Given the description of an element on the screen output the (x, y) to click on. 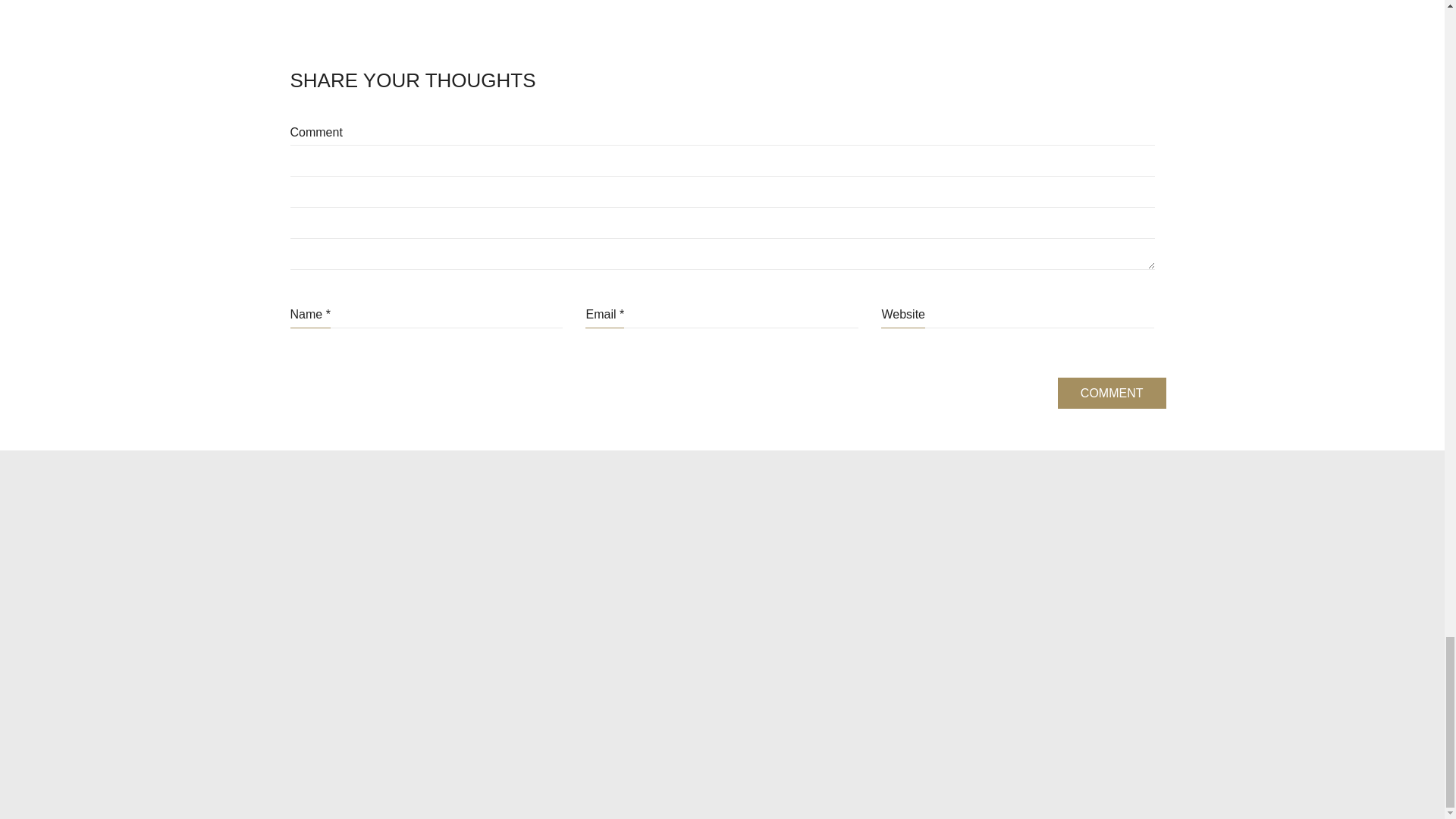
Comment (1112, 392)
Comment (1112, 392)
